Given the description of an element on the screen output the (x, y) to click on. 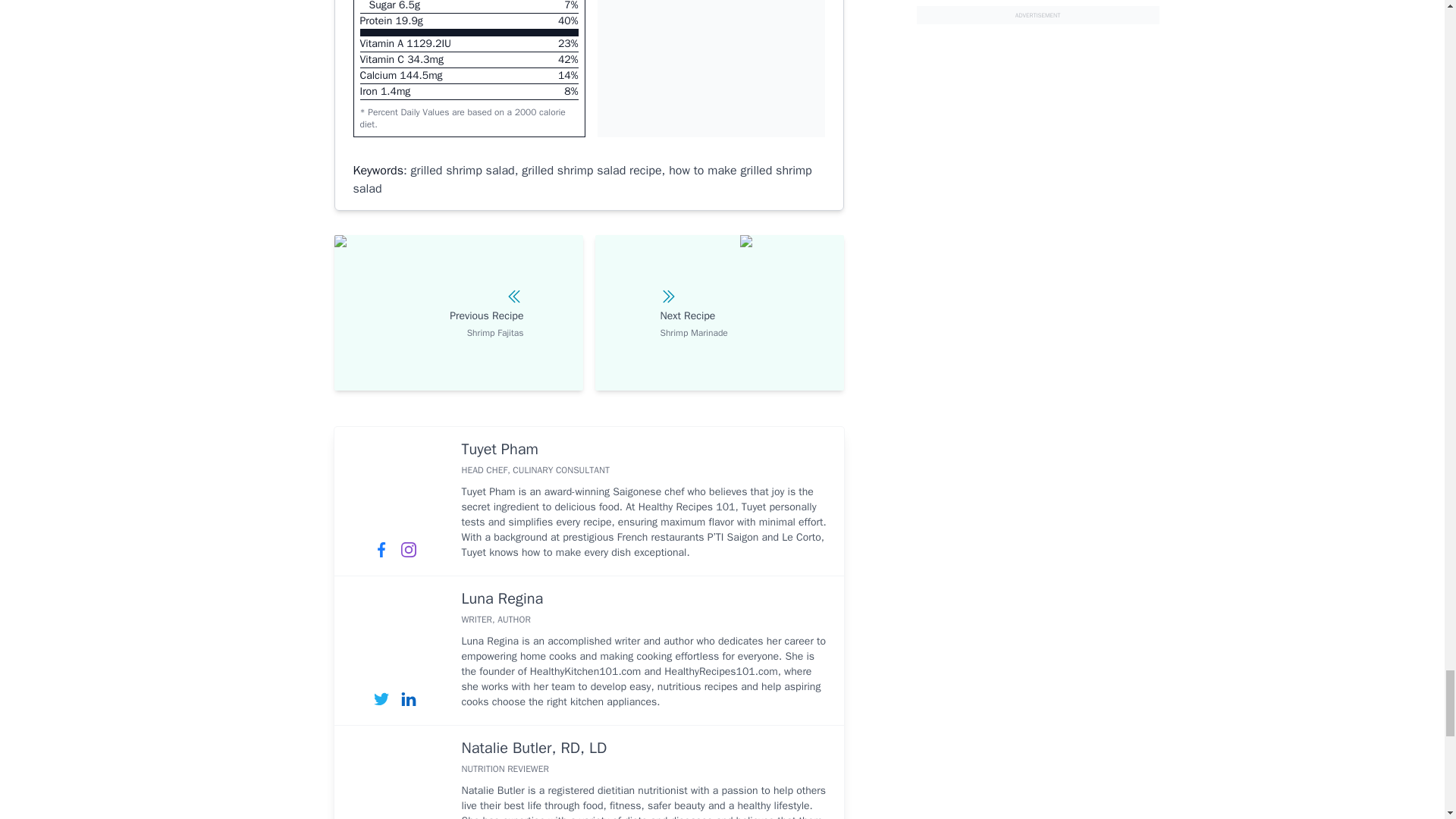
instagram Tuyet Pham (408, 549)
facebook Tuyet Pham (380, 549)
linkedIn Luna Regina (408, 698)
twitter Luna Regina (380, 698)
